Given the description of an element on the screen output the (x, y) to click on. 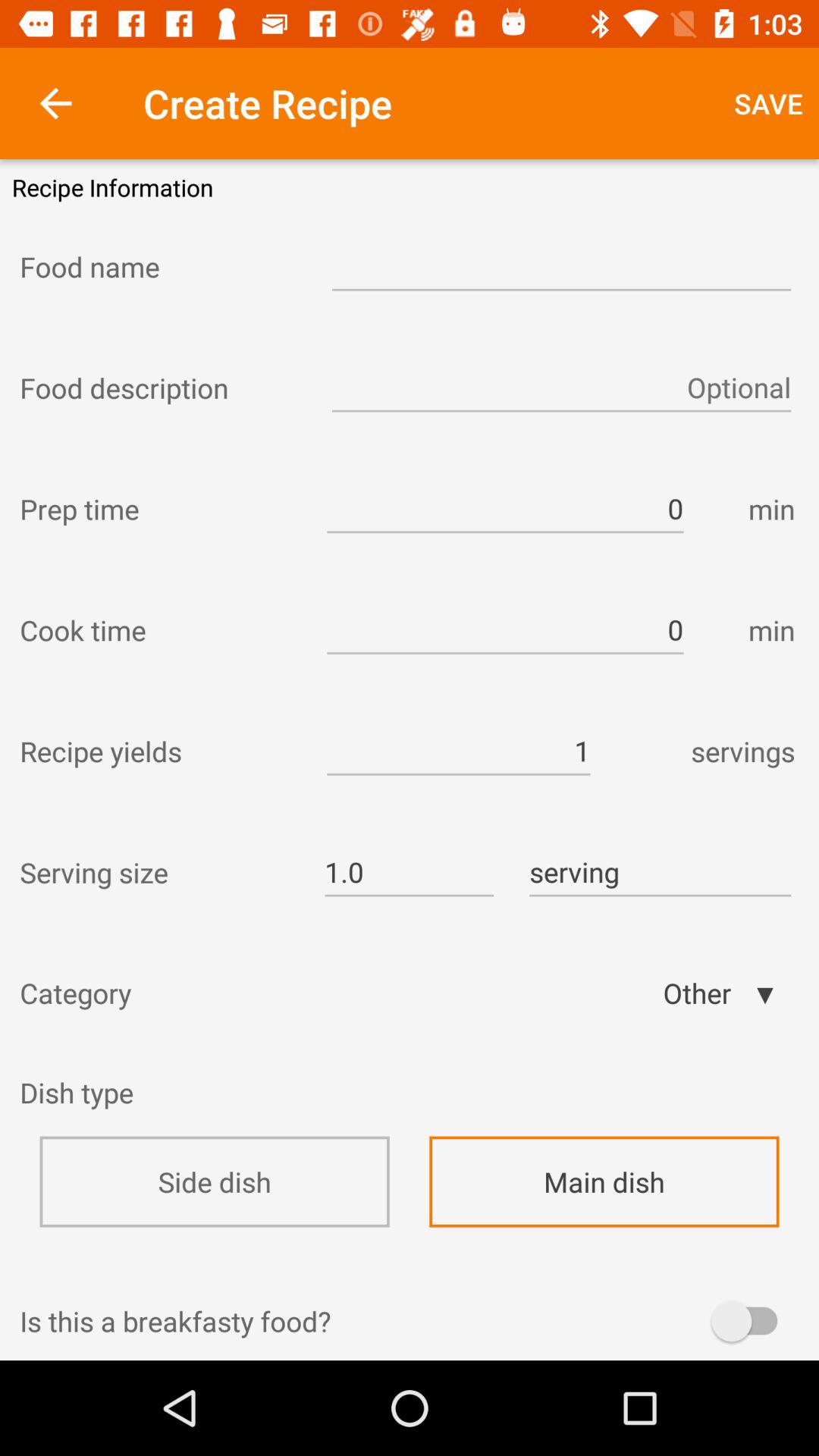
flip to cook time icon (159, 629)
